Given the description of an element on the screen output the (x, y) to click on. 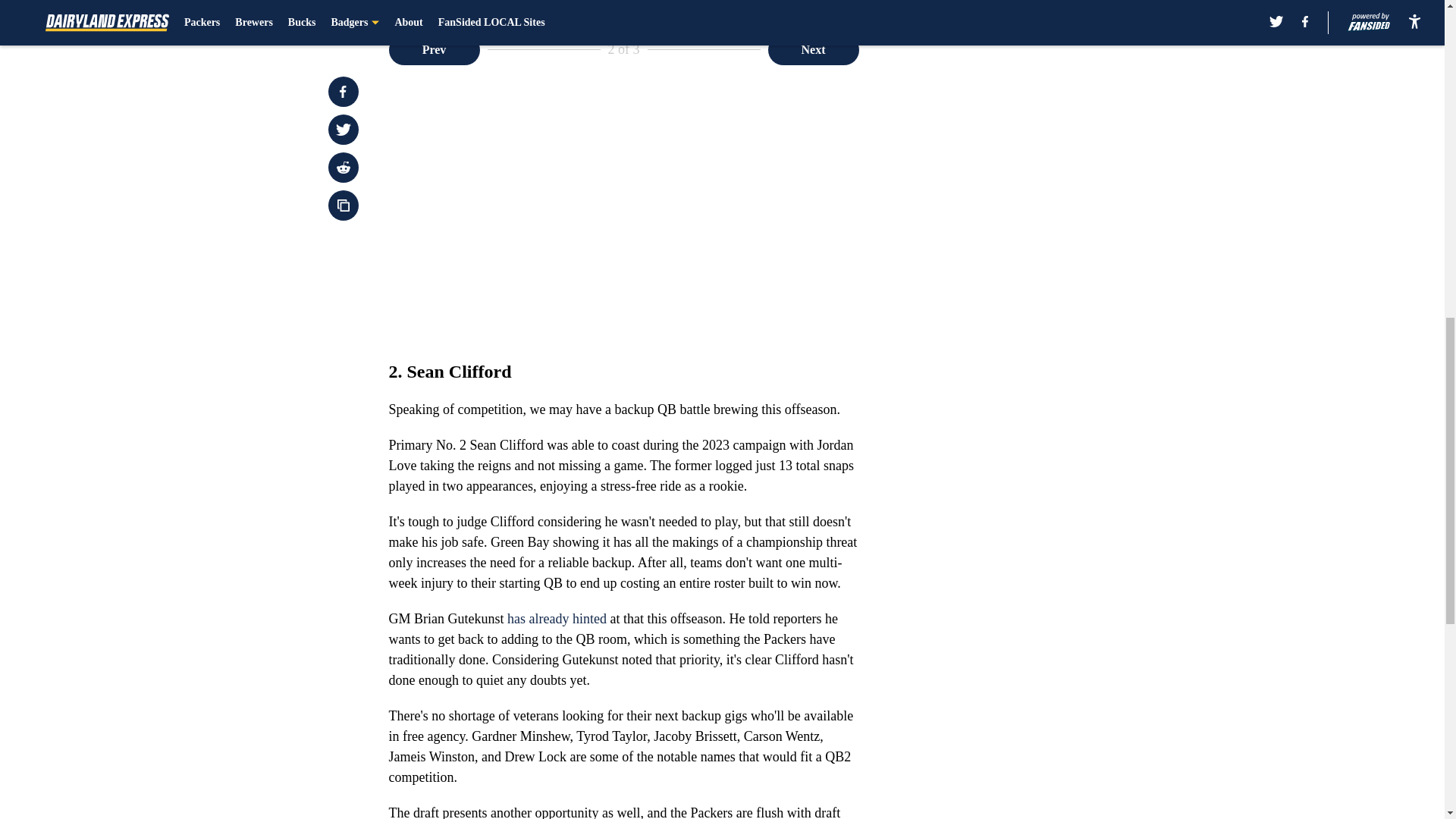
has already hinted (556, 618)
Prev (433, 50)
Next (813, 50)
